Given the description of an element on the screen output the (x, y) to click on. 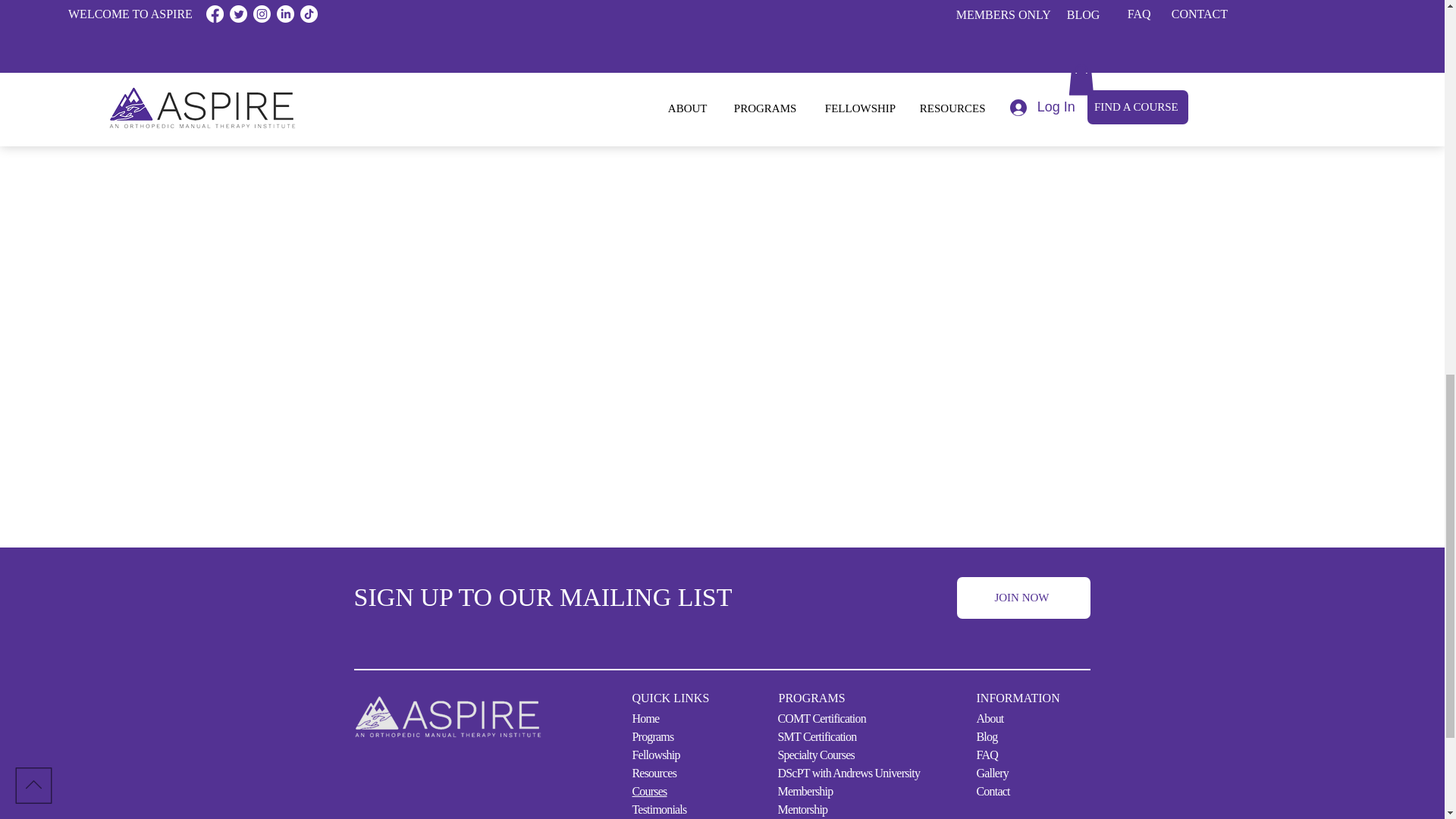
JOIN NOW (1023, 598)
